Given the description of an element on the screen output the (x, y) to click on. 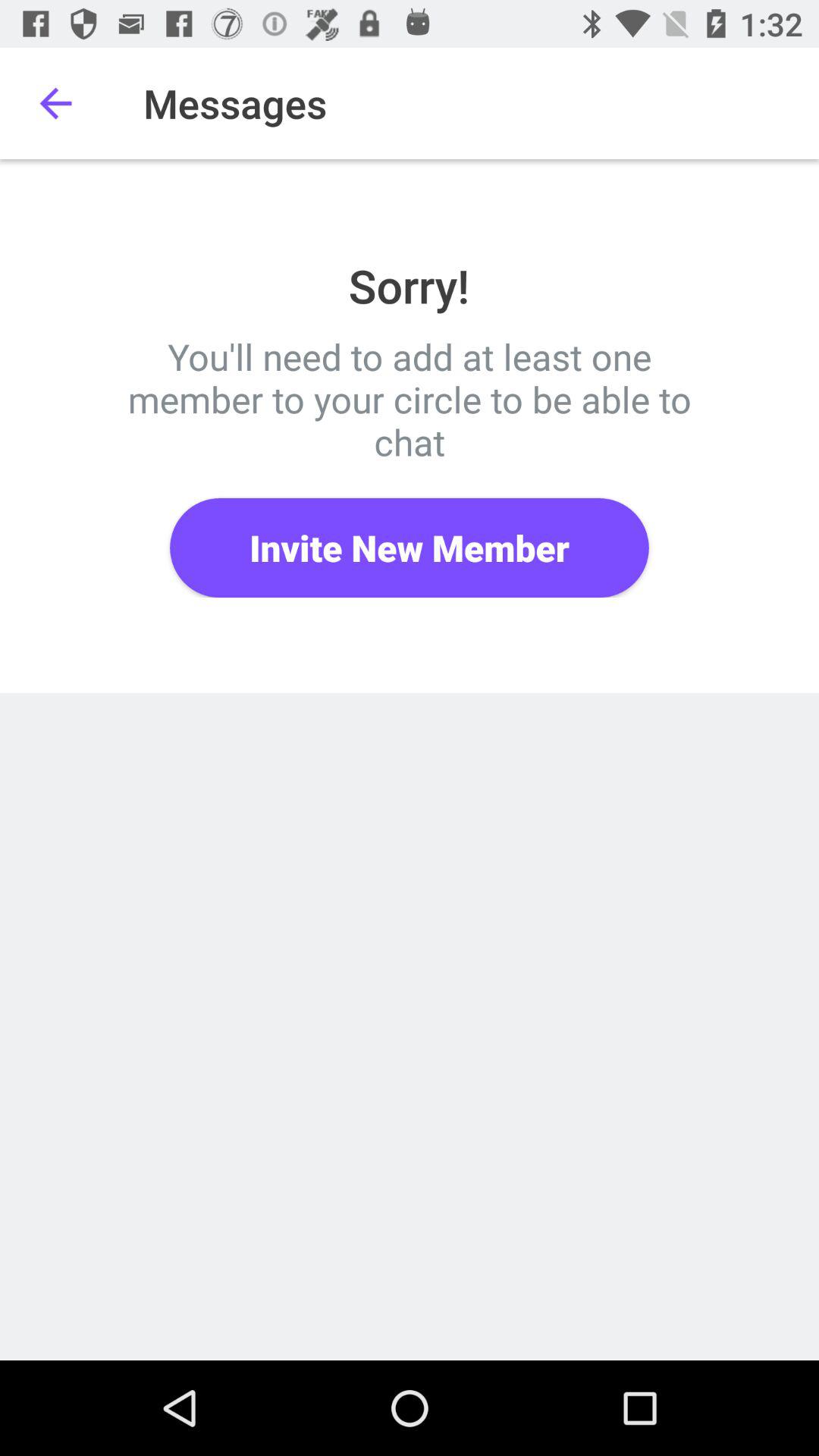
launch item to the left of the messages icon (55, 103)
